Given the description of an element on the screen output the (x, y) to click on. 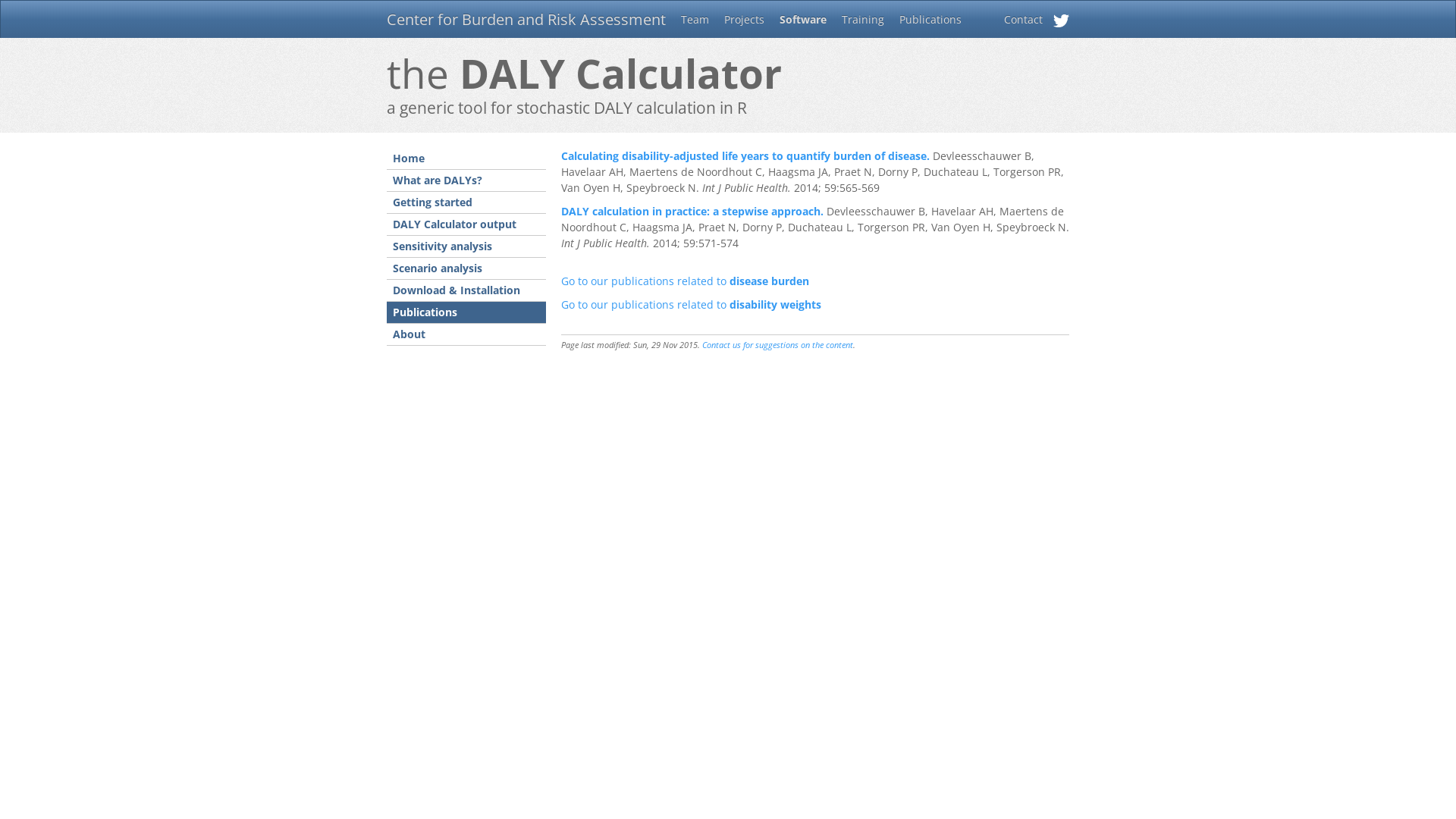
Getting started Element type: text (466, 202)
Follow @CBRA_be on Twitter Element type: hover (1061, 22)
Sensitivity analysis Element type: text (466, 246)
Go to our publications related to disability weights Element type: text (691, 304)
Team Element type: text (694, 19)
Contact Element type: text (1023, 19)
Download & Installation Element type: text (466, 290)
DALY Calculator output Element type: text (466, 224)
Contact us for suggestions on the content Element type: text (777, 344)
DALY calculation in practice: a stepwise approach. Element type: text (692, 210)
What are DALYs? Element type: text (466, 180)
Training Element type: text (862, 19)
Projects Element type: text (744, 19)
Go to our publications related to disease burden Element type: text (685, 280)
About Element type: text (466, 334)
Software Element type: text (802, 19)
Scenario analysis Element type: text (466, 268)
Publications Element type: text (930, 19)
Publications Element type: text (466, 312)
Center for Burden and Risk Assessment Element type: text (525, 19)
Home Element type: text (466, 158)
